Given the description of an element on the screen output the (x, y) to click on. 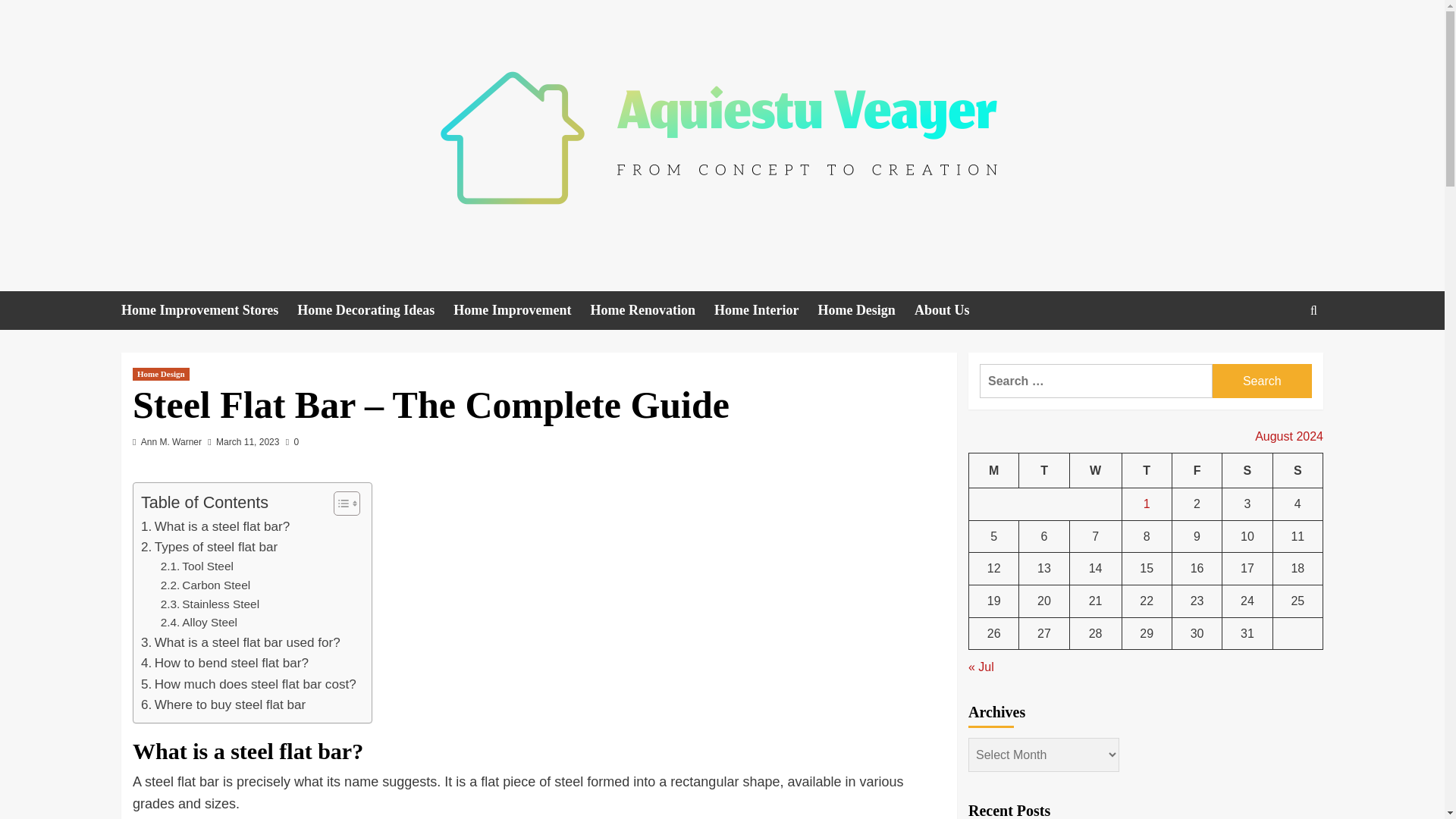
Home Interior (765, 310)
Where to buy steel flat bar (223, 704)
Stainless Steel (209, 604)
Ann M. Warner (171, 441)
March 11, 2023 (247, 441)
How to bend steel flat bar? (224, 662)
How much does steel flat bar cost? (248, 684)
Tool Steel (196, 566)
Home Decorating Ideas (374, 310)
Home Renovation (651, 310)
Search (1261, 380)
What is a steel flat bar used for? (240, 642)
How to bend steel flat bar? (224, 662)
Types of steel flat bar (209, 547)
Stainless Steel (209, 604)
